Given the description of an element on the screen output the (x, y) to click on. 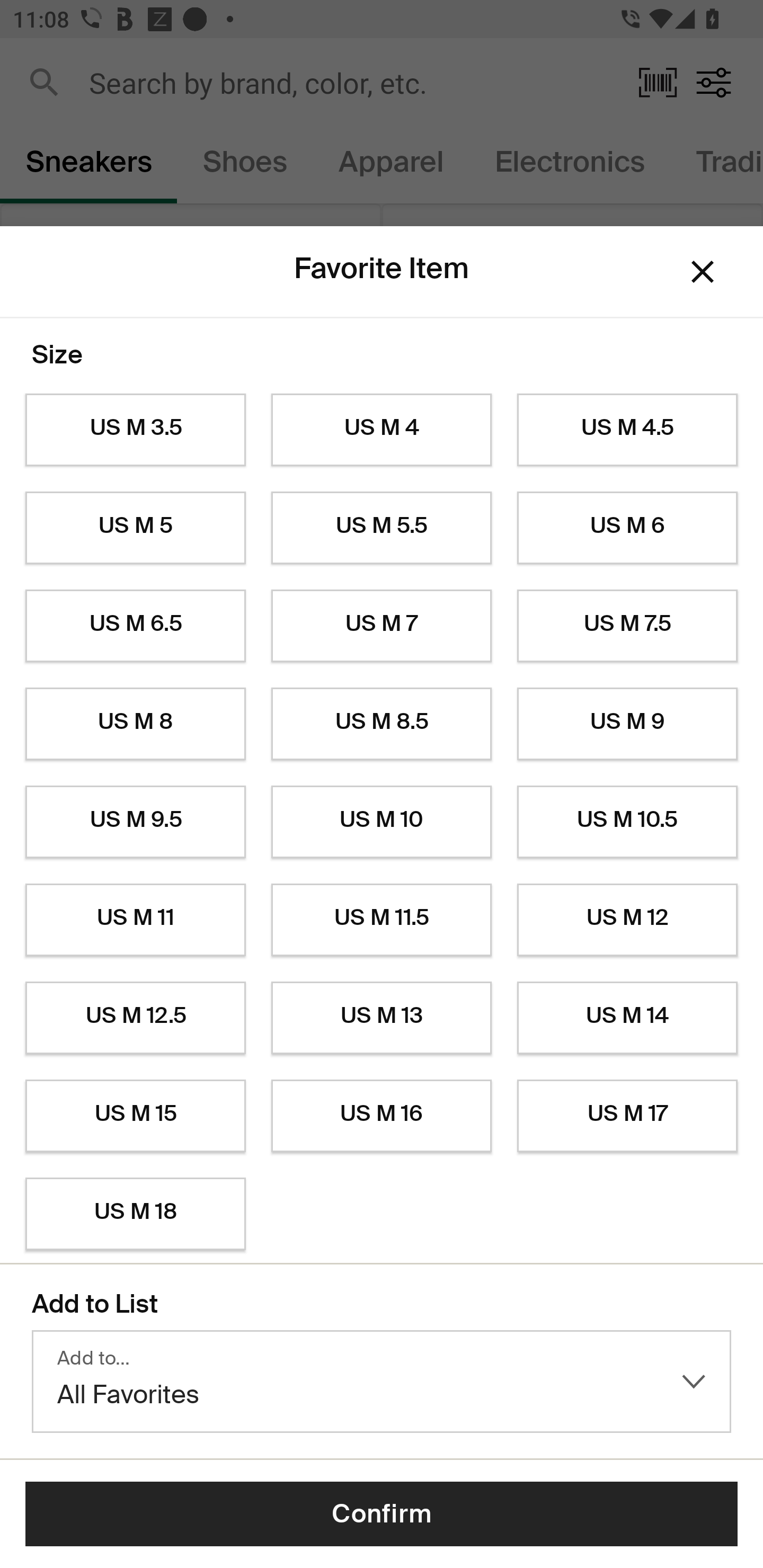
Dismiss (702, 271)
US M 3.5 (135, 430)
US M 4 (381, 430)
US M 4.5 (627, 430)
US M 5 (135, 527)
US M 5.5 (381, 527)
US M 6 (627, 527)
US M 6.5 (135, 626)
US M 7 (381, 626)
US M 7.5 (627, 626)
US M 8 (135, 724)
US M 8.5 (381, 724)
US M 9 (627, 724)
US M 9.5 (135, 822)
US M 10 (381, 822)
US M 10.5 (627, 822)
US M 11 (135, 919)
US M 11.5 (381, 919)
US M 12 (627, 919)
US M 12.5 (135, 1018)
US M 13 (381, 1018)
US M 14 (627, 1018)
US M 15 (135, 1116)
US M 16 (381, 1116)
US M 17 (627, 1116)
US M 18 (135, 1214)
Add to… All Favorites (381, 1381)
Confirm (381, 1513)
